Given the description of an element on the screen output the (x, y) to click on. 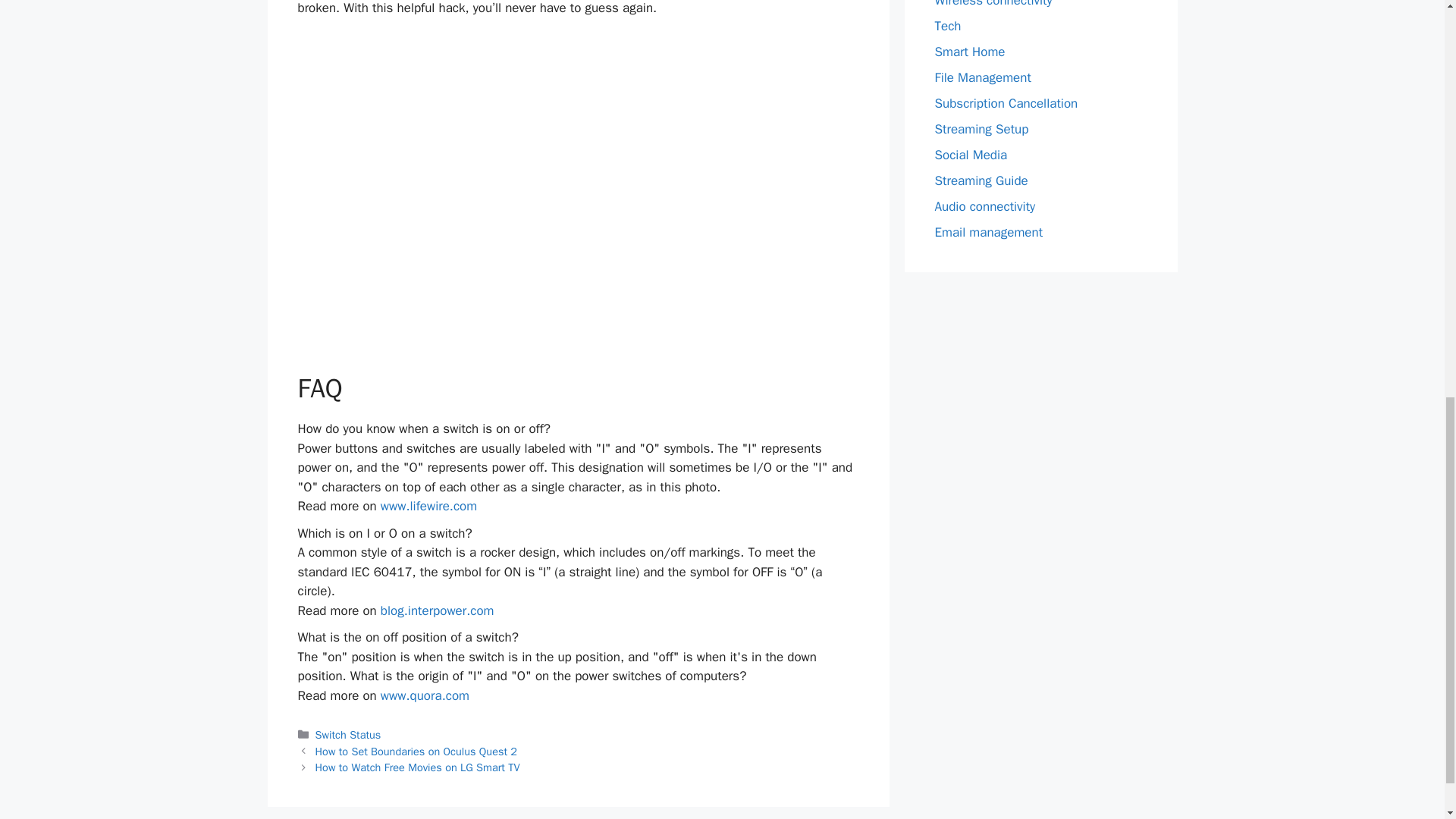
Social Media (970, 154)
Streaming Setup (980, 129)
www.quora.com (424, 695)
How to Watch Free Movies on LG Smart TV (417, 766)
Email management (988, 232)
Smart Home (969, 51)
Tech (947, 26)
File Management (982, 77)
Audio connectivity (984, 206)
Streaming Guide (980, 180)
